Given the description of an element on the screen output the (x, y) to click on. 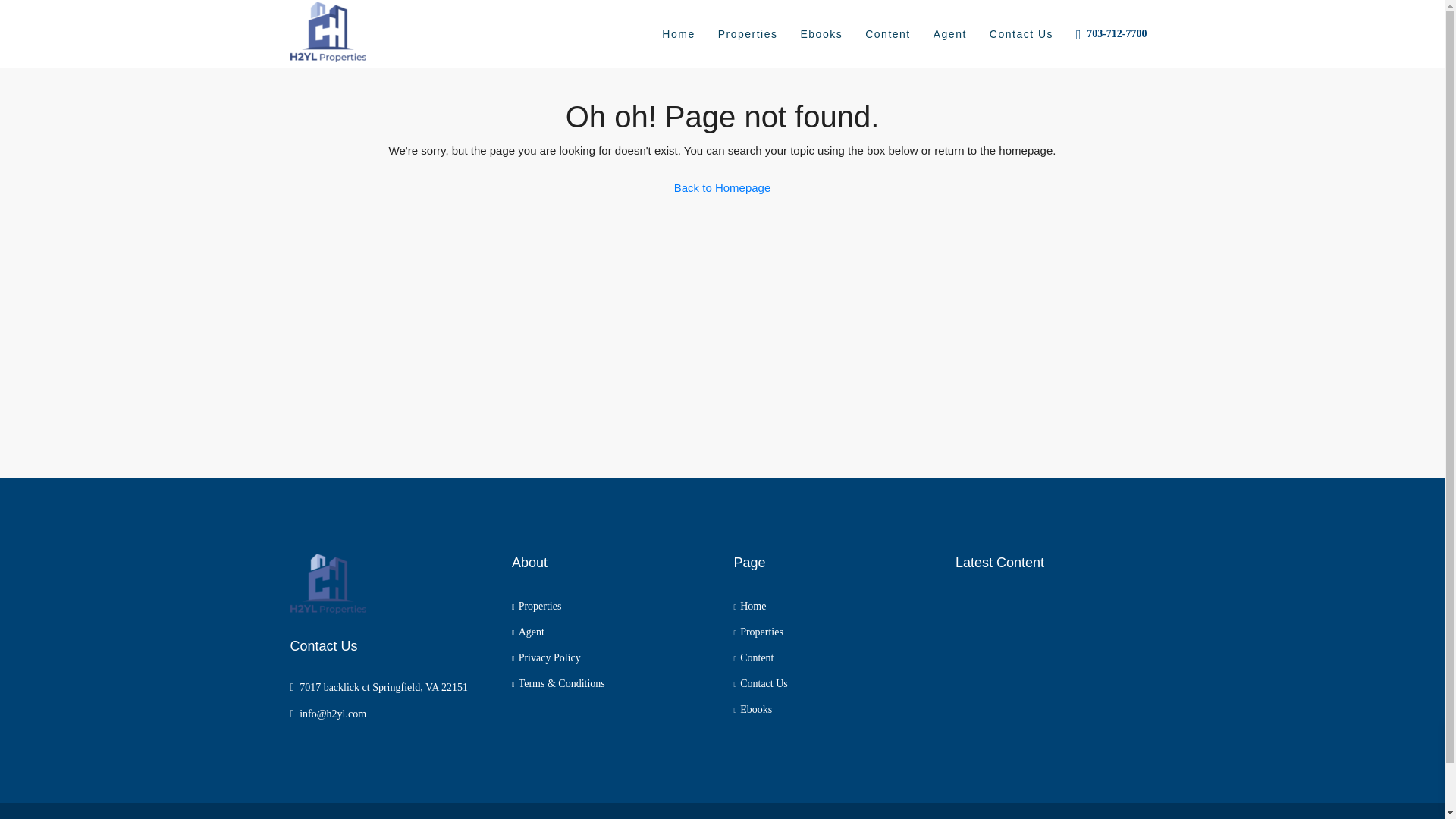
Properties (747, 33)
Ebooks (821, 33)
Properties (536, 605)
Properties (758, 632)
Contact Us (760, 683)
Contact Us (1021, 33)
Agent (528, 632)
Privacy Policy (546, 657)
Back to Homepage (722, 187)
Home (750, 605)
Content (753, 657)
Ebooks (753, 708)
Content (887, 33)
703-712-7700 (1114, 33)
